Given the description of an element on the screen output the (x, y) to click on. 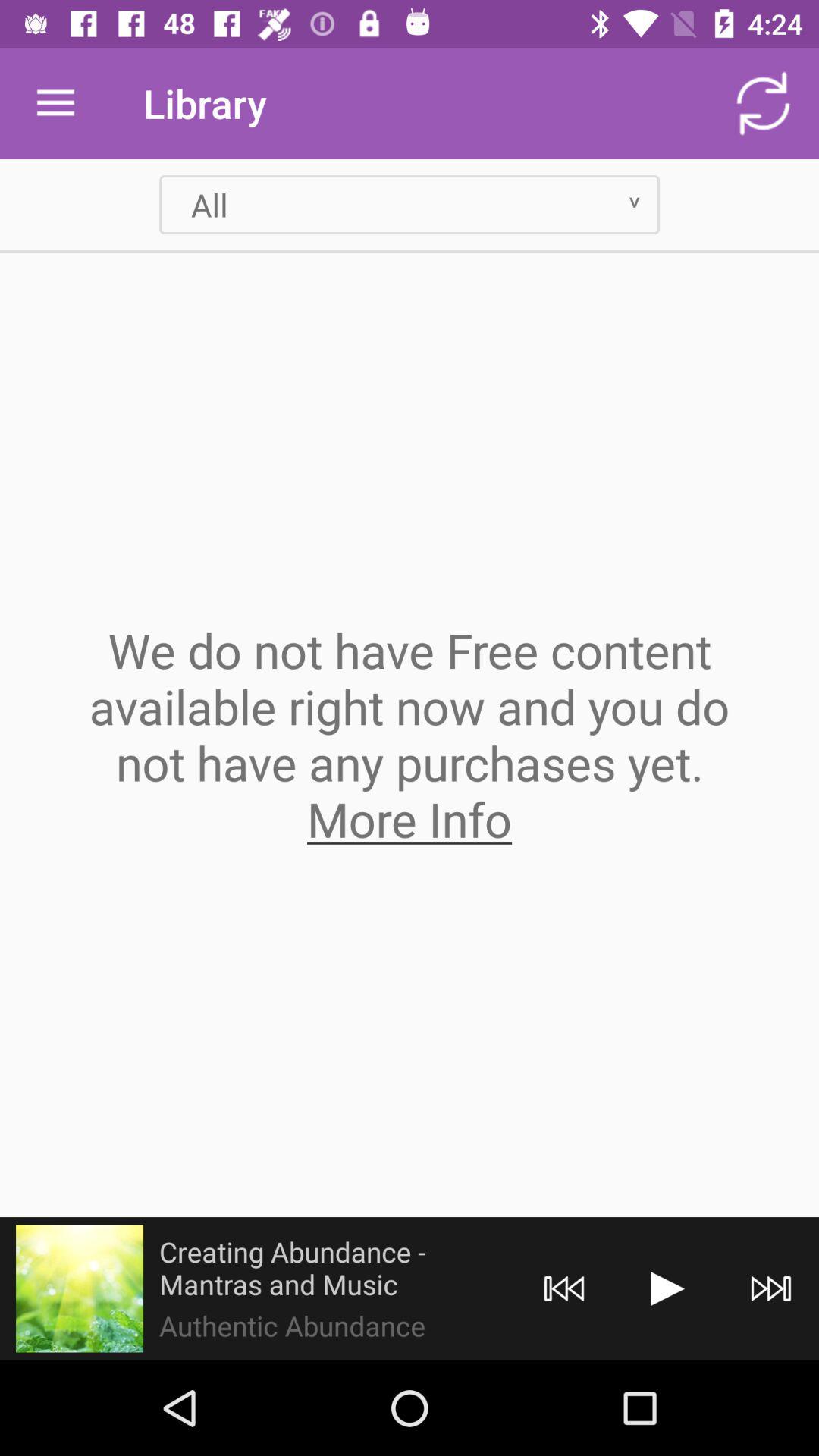
play media (667, 1288)
